Given the description of an element on the screen output the (x, y) to click on. 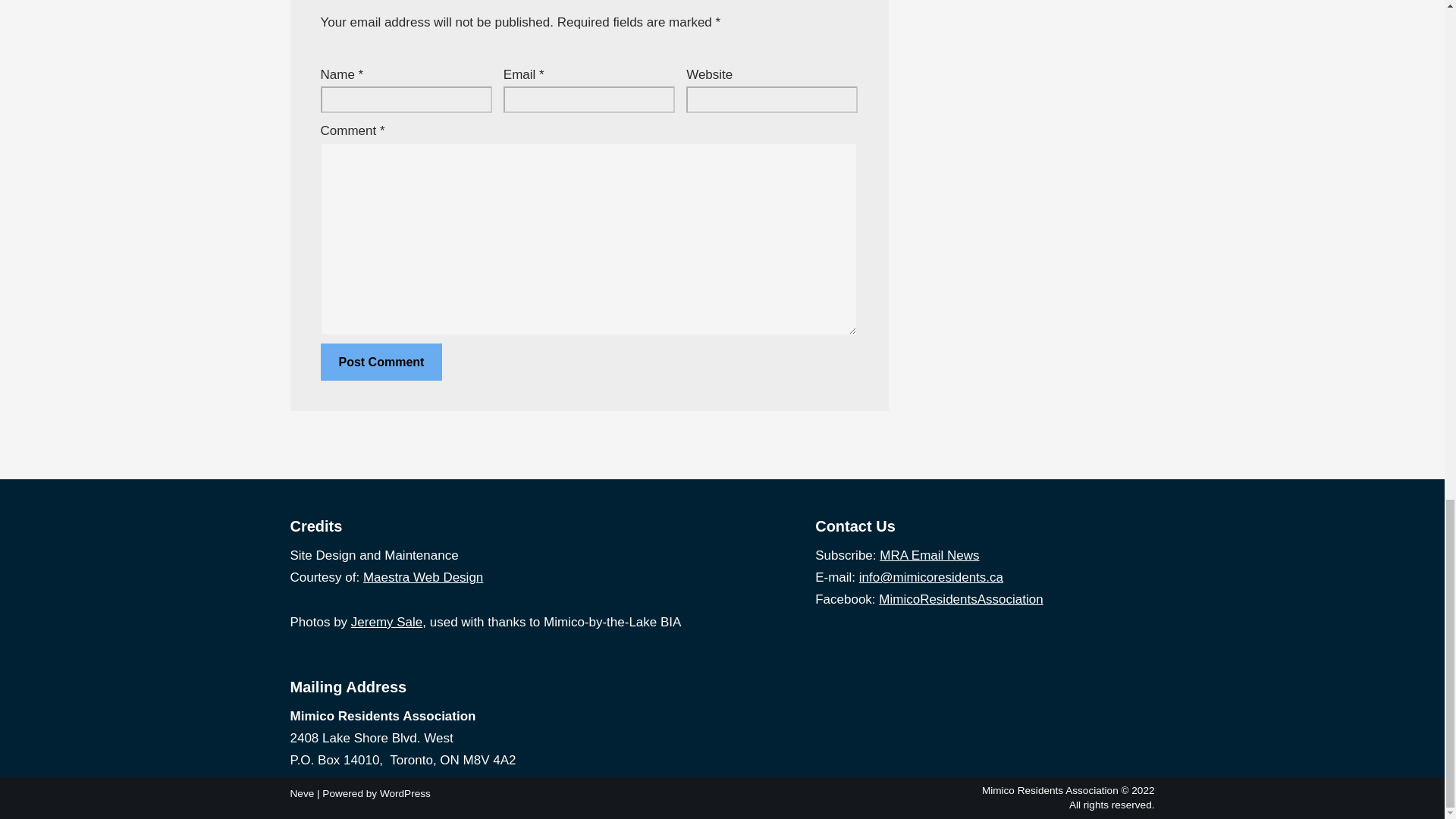
Post Comment (381, 362)
